Given the description of an element on the screen output the (x, y) to click on. 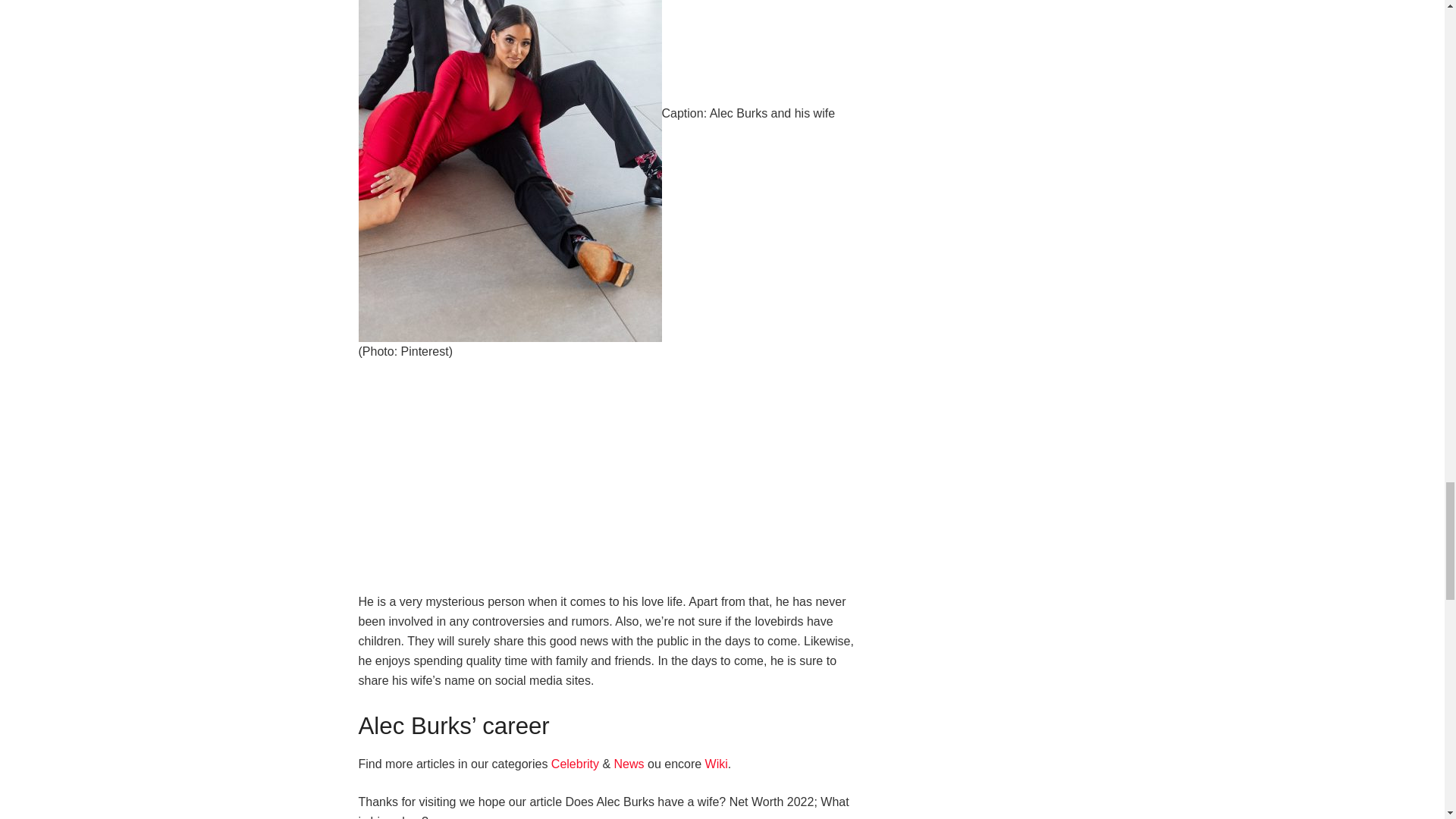
Wiki (716, 763)
News (629, 763)
Celebrity (576, 763)
